Given the description of an element on the screen output the (x, y) to click on. 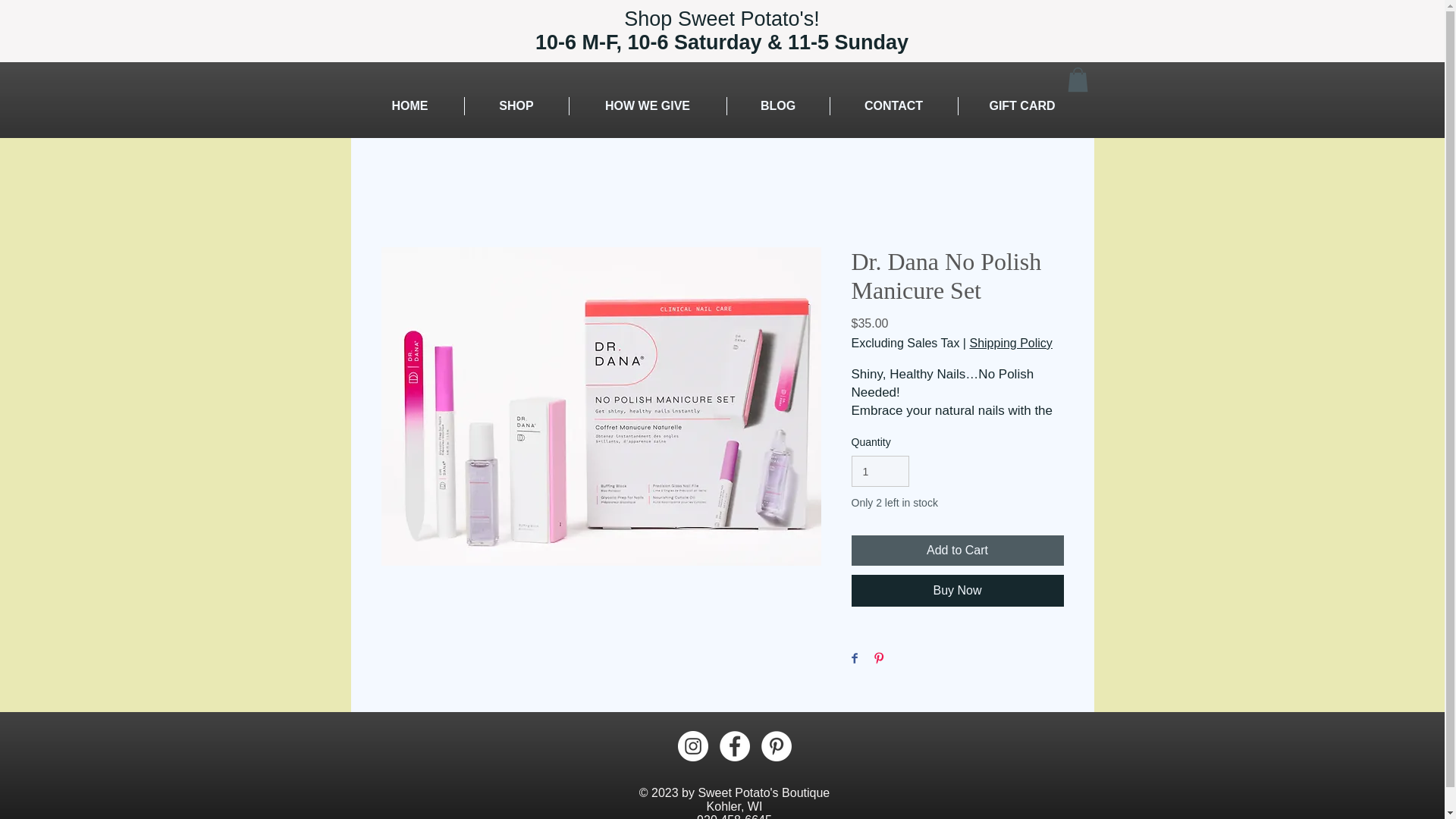
1 (879, 470)
Add to Cart (956, 550)
Buy Now (956, 590)
HOW WE GIVE (647, 106)
CONTACT (892, 106)
Shipping Policy (1010, 343)
HOME (410, 106)
BLOG (777, 106)
SHOP (515, 106)
GIFT CARD (1022, 106)
